Given the description of an element on the screen output the (x, y) to click on. 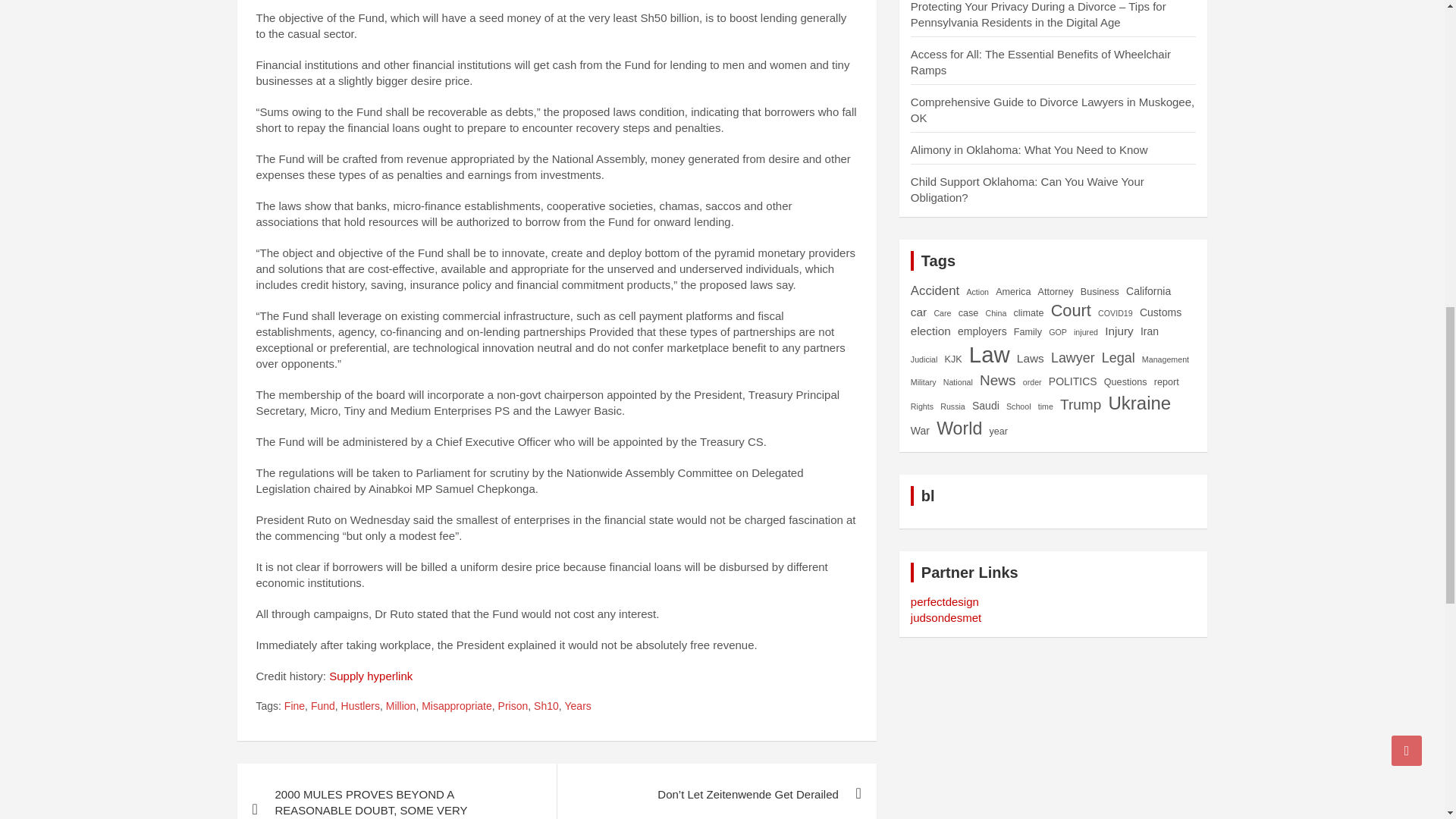
Prison (512, 706)
Million (400, 706)
Supply hyperlink (370, 675)
Years (577, 706)
Hustlers (360, 706)
Fine (293, 706)
Fund (322, 706)
Sh10 (546, 706)
Misappropriate (457, 706)
